Given the description of an element on the screen output the (x, y) to click on. 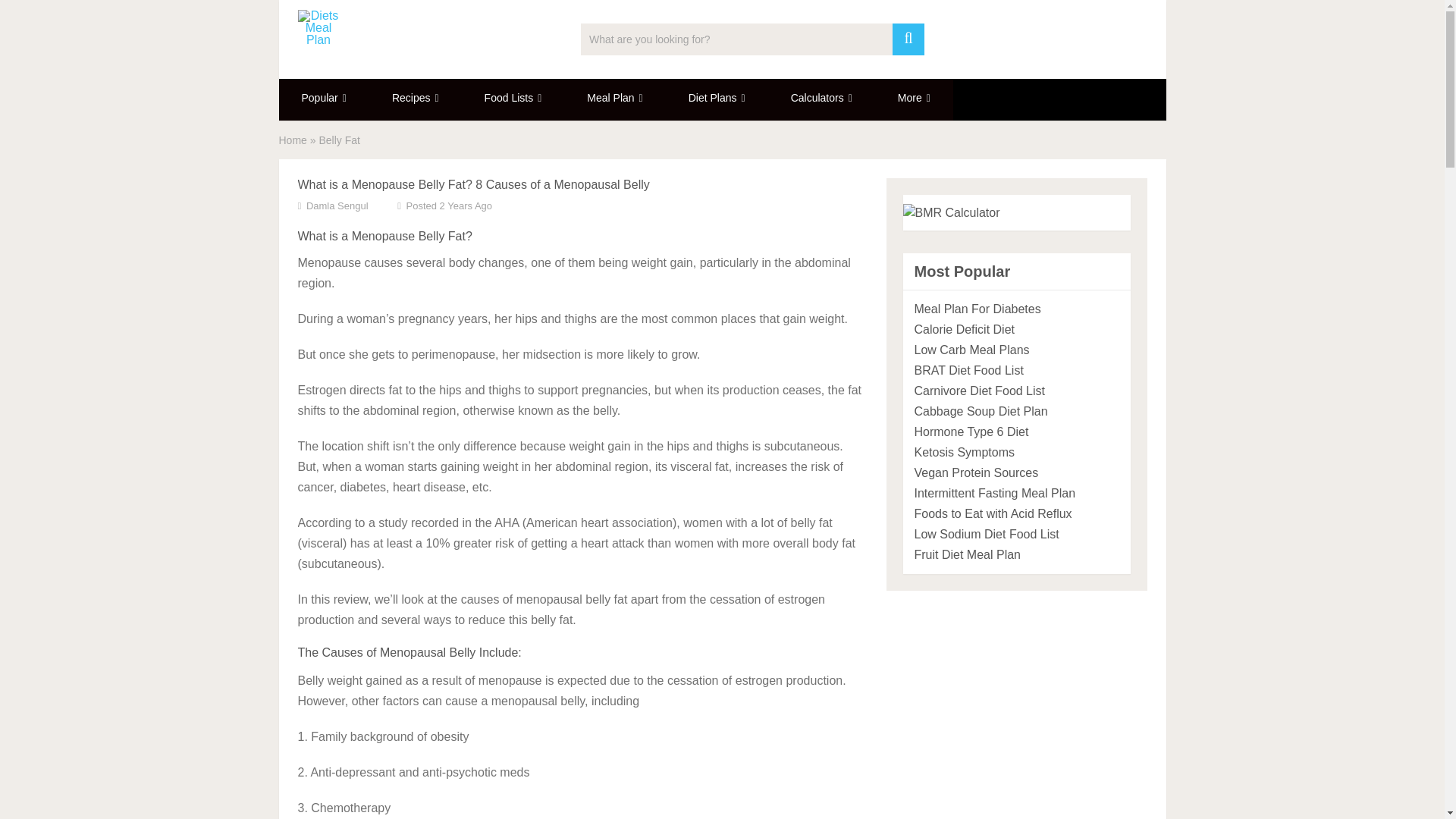
Posts by Damla Sengul (336, 205)
Food Lists (512, 99)
Recipes (415, 99)
Popular (324, 99)
